Given the description of an element on the screen output the (x, y) to click on. 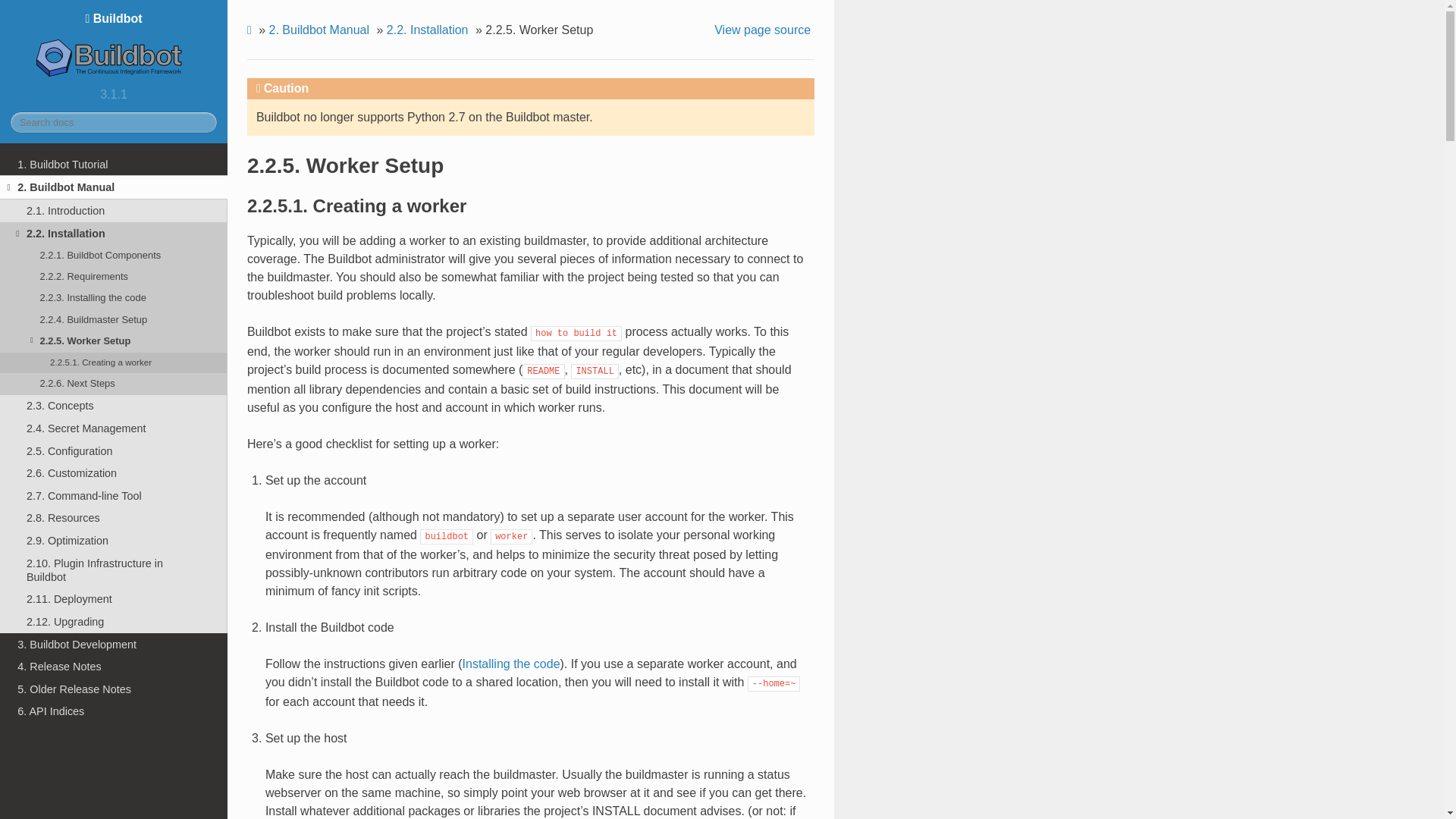
2.2.4. Buildmaster Setup (113, 319)
1. Buildbot Tutorial (113, 164)
2.2.6. Next Steps (113, 383)
View page source (763, 29)
Installing the code (511, 663)
2. Buildbot Manual (113, 187)
2.5. Configuration (113, 450)
2.1. Introduction (113, 210)
2.2. Installation (113, 232)
2.6. Customization (113, 472)
2.10. Plugin Infrastructure in Buildbot (113, 570)
6. API Indices (113, 712)
2.9. Optimization (113, 540)
2.12. Upgrading (113, 621)
2.2.5. Worker Setup (113, 341)
